Given the description of an element on the screen output the (x, y) to click on. 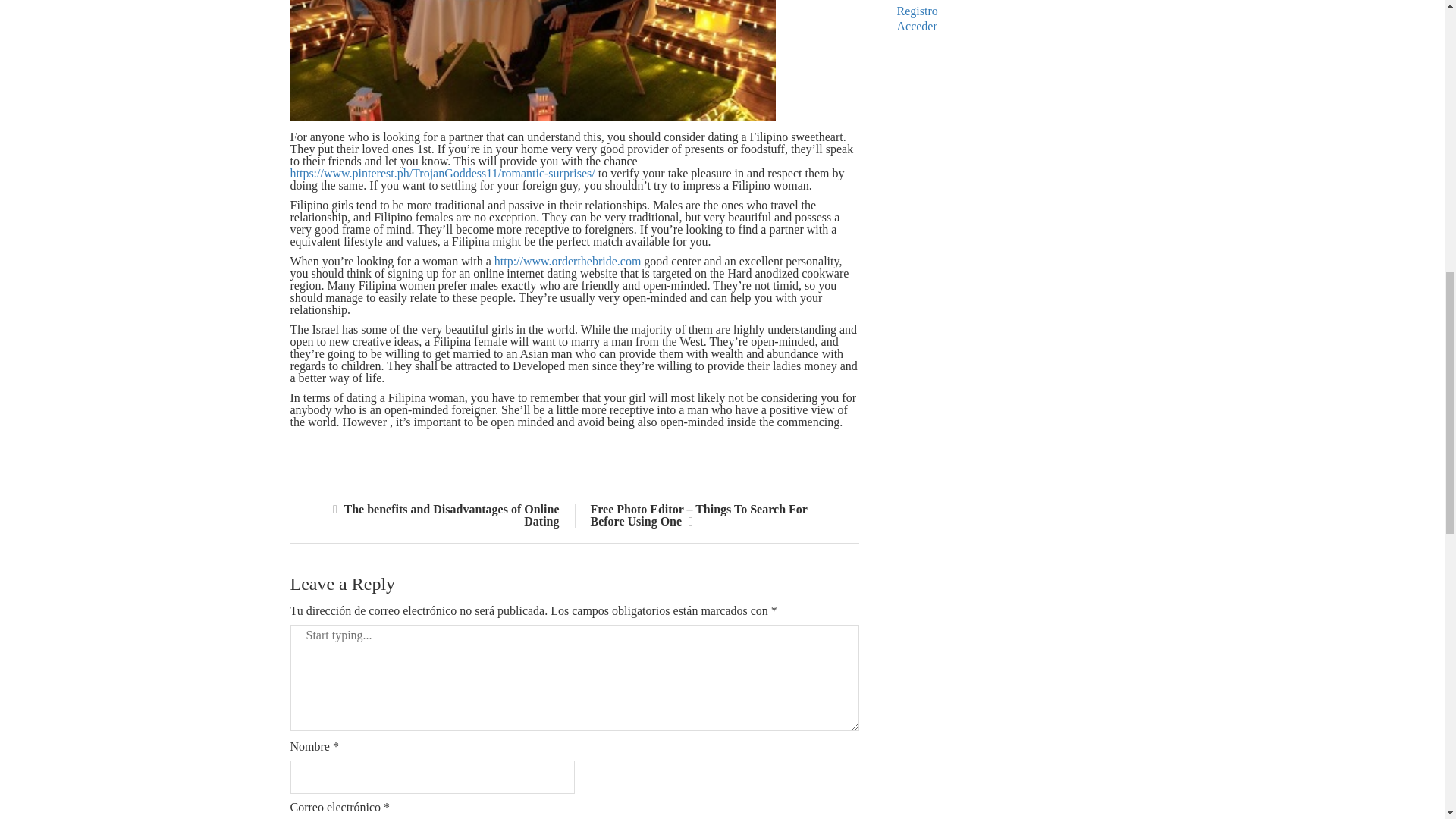
The benefits and Disadvantages of Online Dating (444, 514)
